Given the description of an element on the screen output the (x, y) to click on. 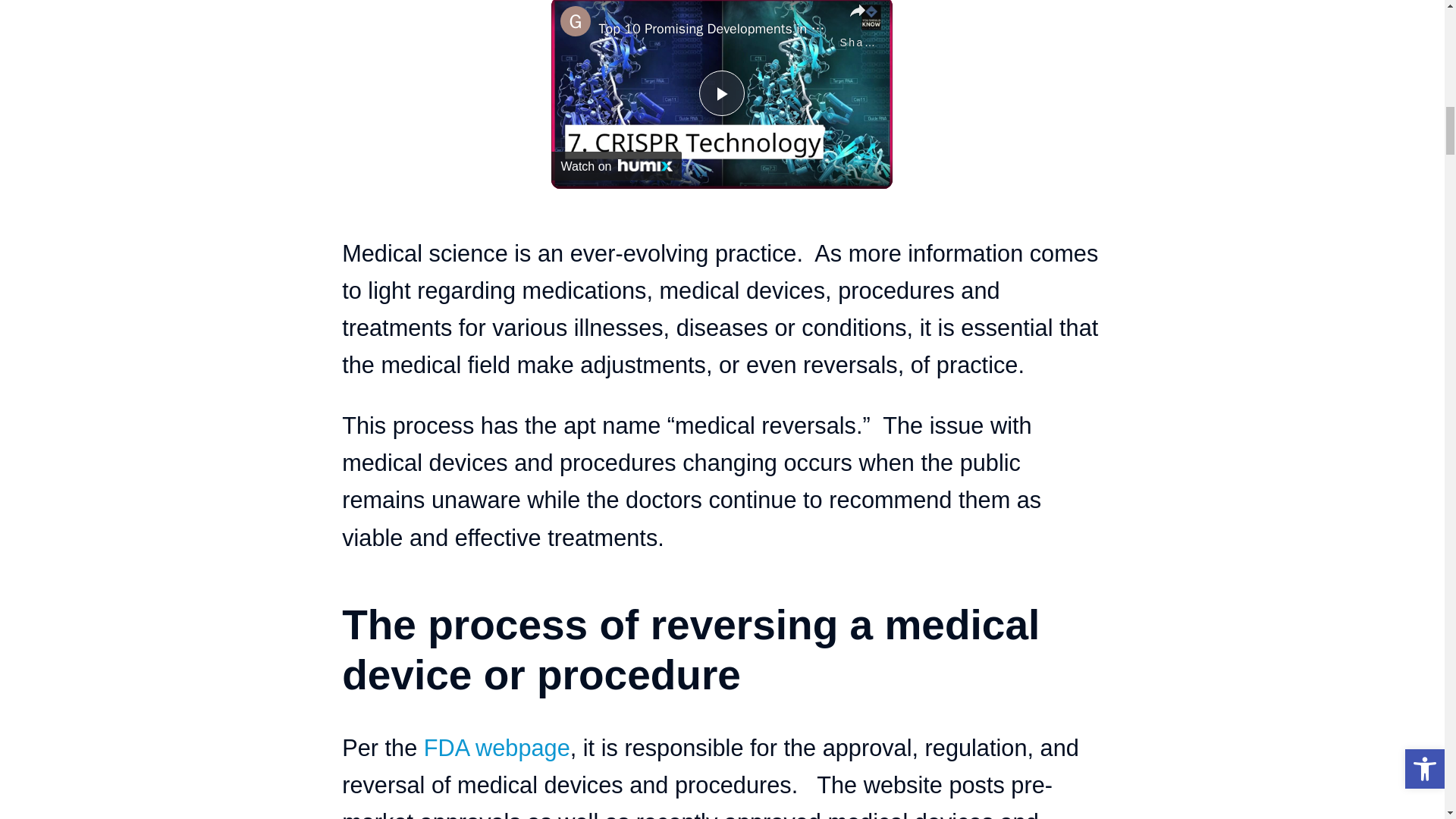
Play Video (721, 93)
